Given the description of an element on the screen output the (x, y) to click on. 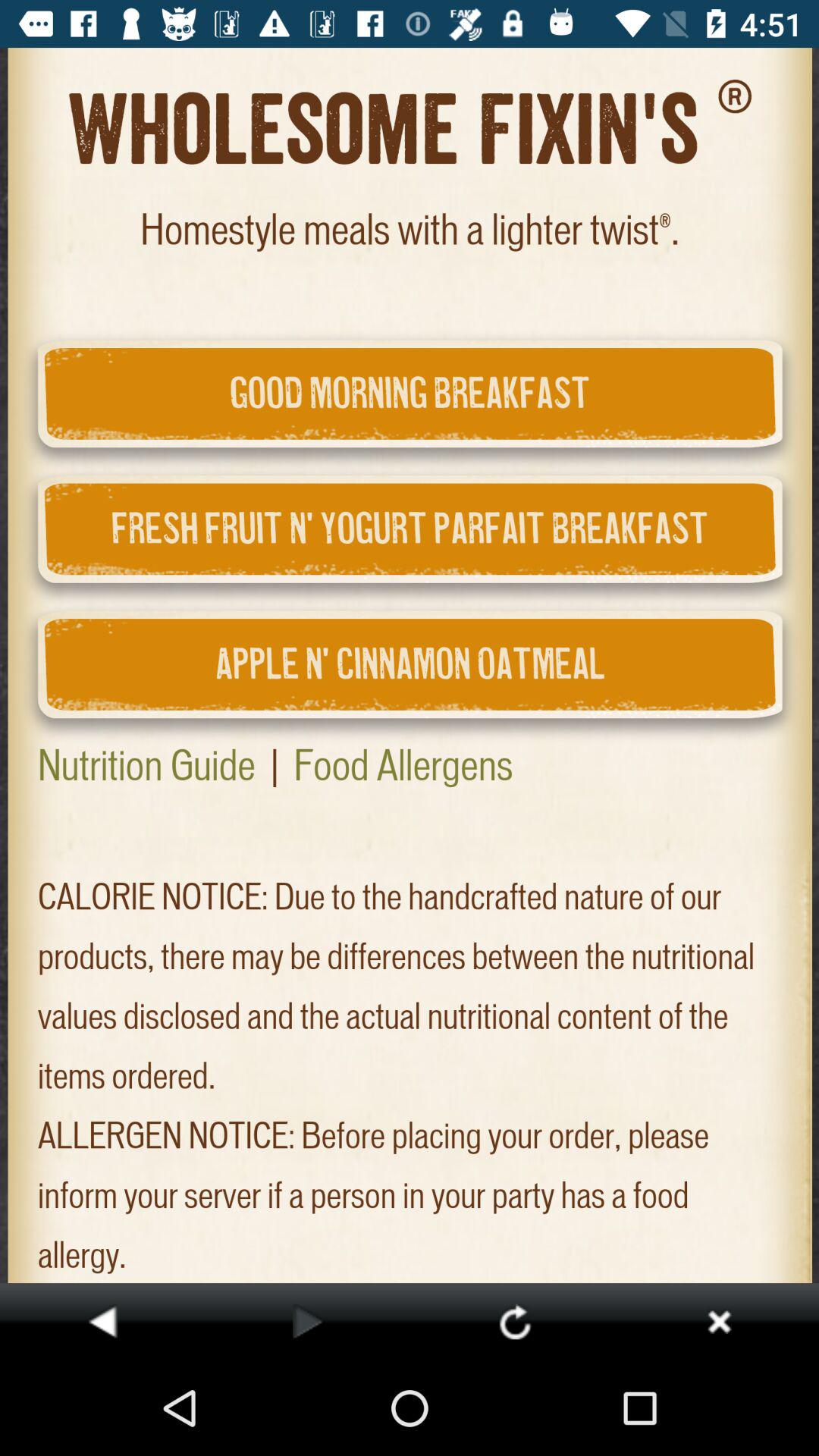
close button (719, 1321)
